Given the description of an element on the screen output the (x, y) to click on. 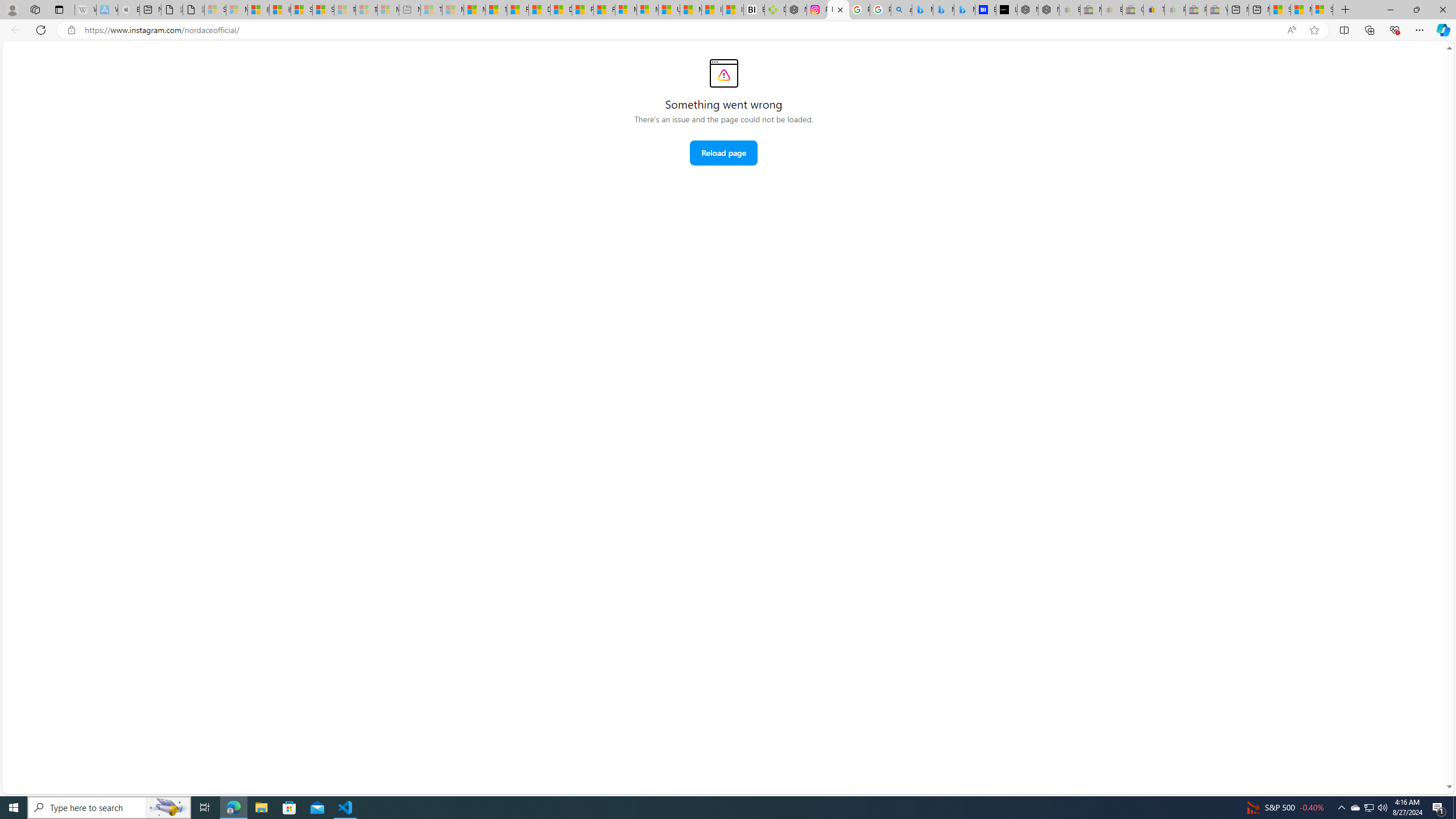
Buy iPad - Apple - Sleeping (128, 9)
alabama high school quarterback dies - Search (901, 9)
Press Room - eBay Inc. - Sleeping (1195, 9)
Marine life - MSN - Sleeping (452, 9)
